Given the description of an element on the screen output the (x, y) to click on. 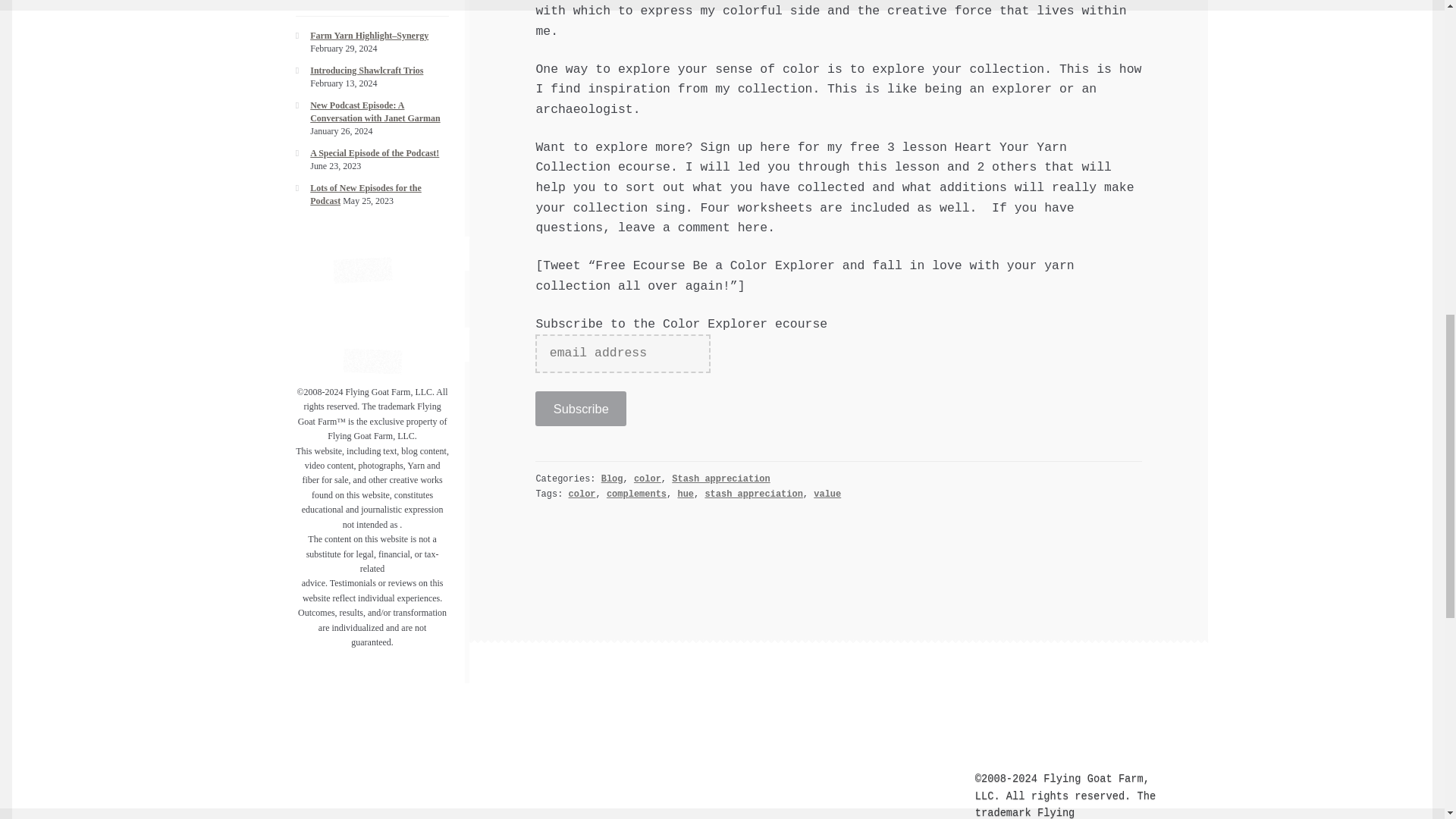
Blog (612, 479)
color (647, 479)
Subscribe (580, 408)
Subscribe (580, 408)
Stash appreciation (720, 479)
